Given the description of an element on the screen output the (x, y) to click on. 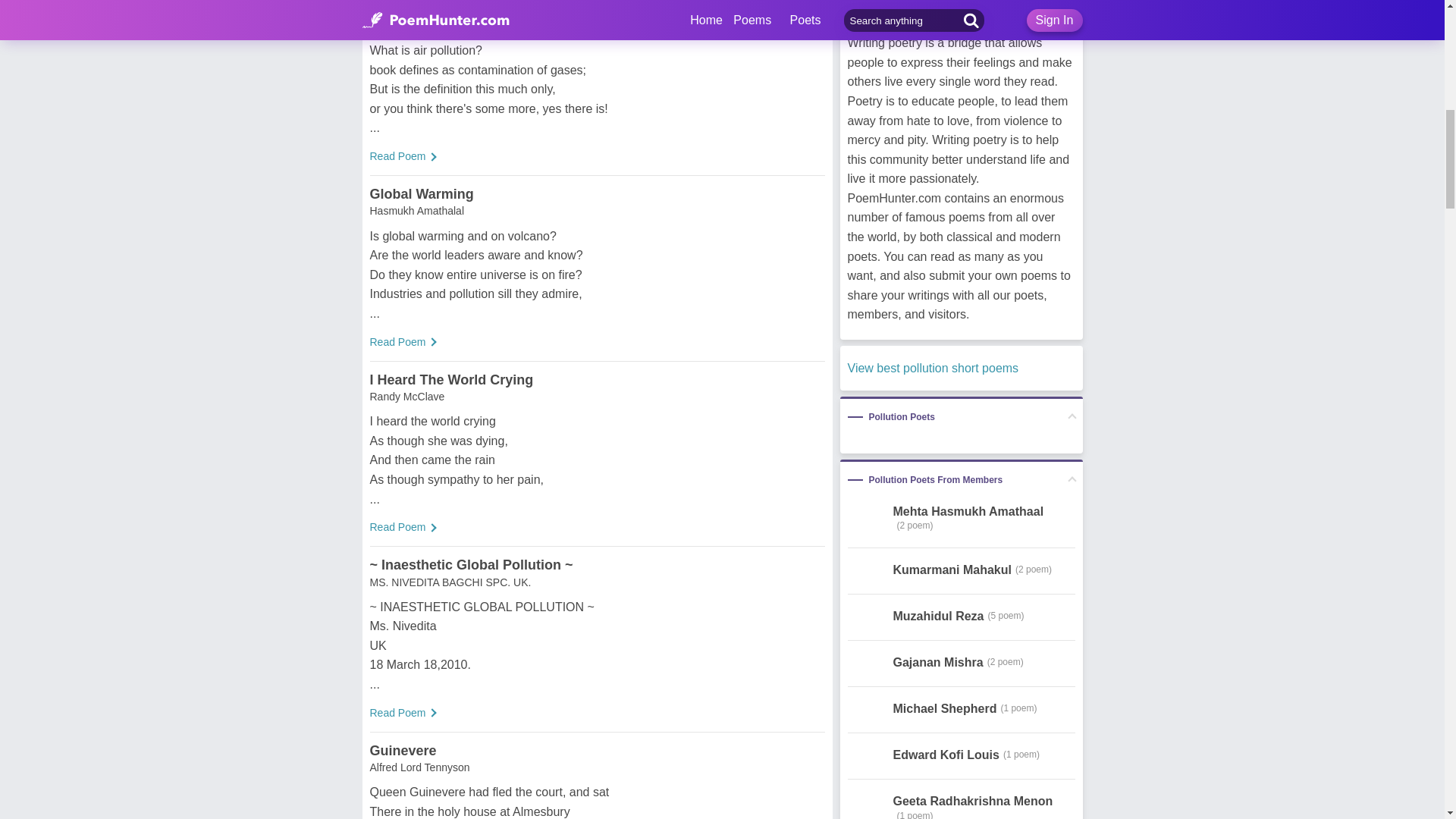
Read Poem (397, 155)
Read Poem (397, 341)
Read Poem (397, 712)
Read Poem (397, 526)
